Given the description of an element on the screen output the (x, y) to click on. 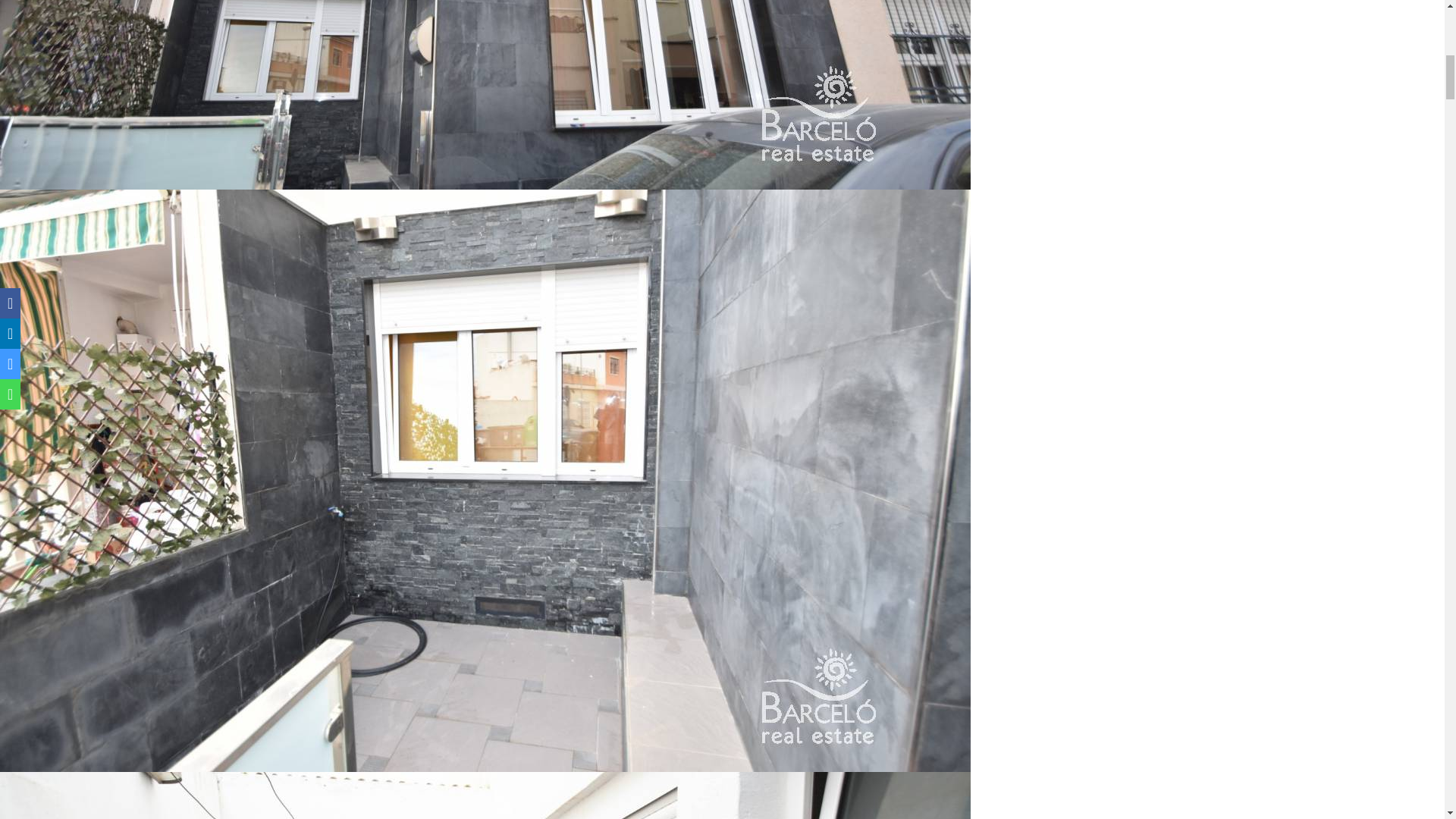
Resale - Attached - Los Montesinos - Center (485, 795)
